Given the description of an element on the screen output the (x, y) to click on. 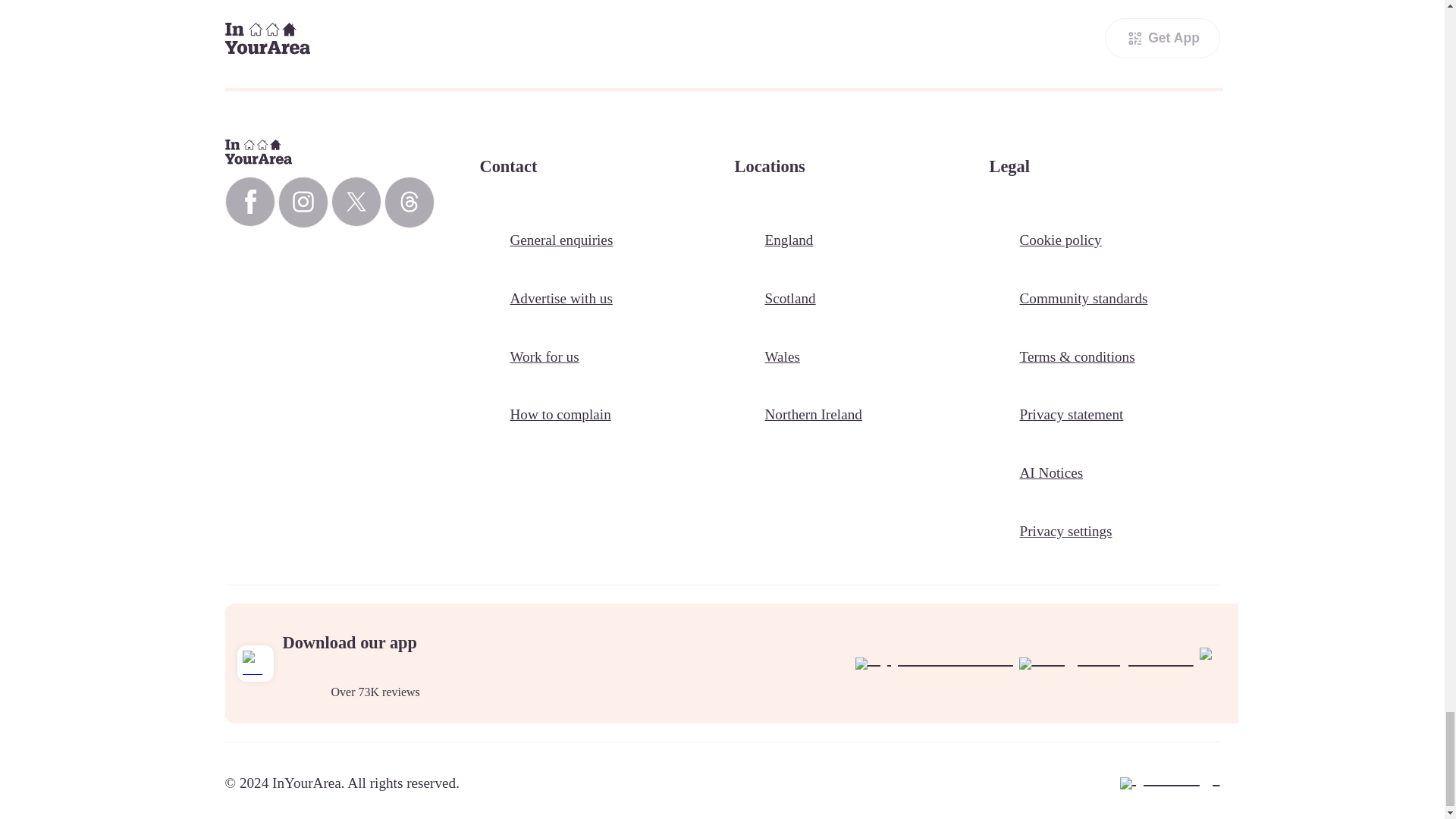
InYourArea Threads (408, 202)
InYourArea Instagram (302, 202)
InYourArea X (355, 201)
InYourArea Facebook (249, 201)
